Given the description of an element on the screen output the (x, y) to click on. 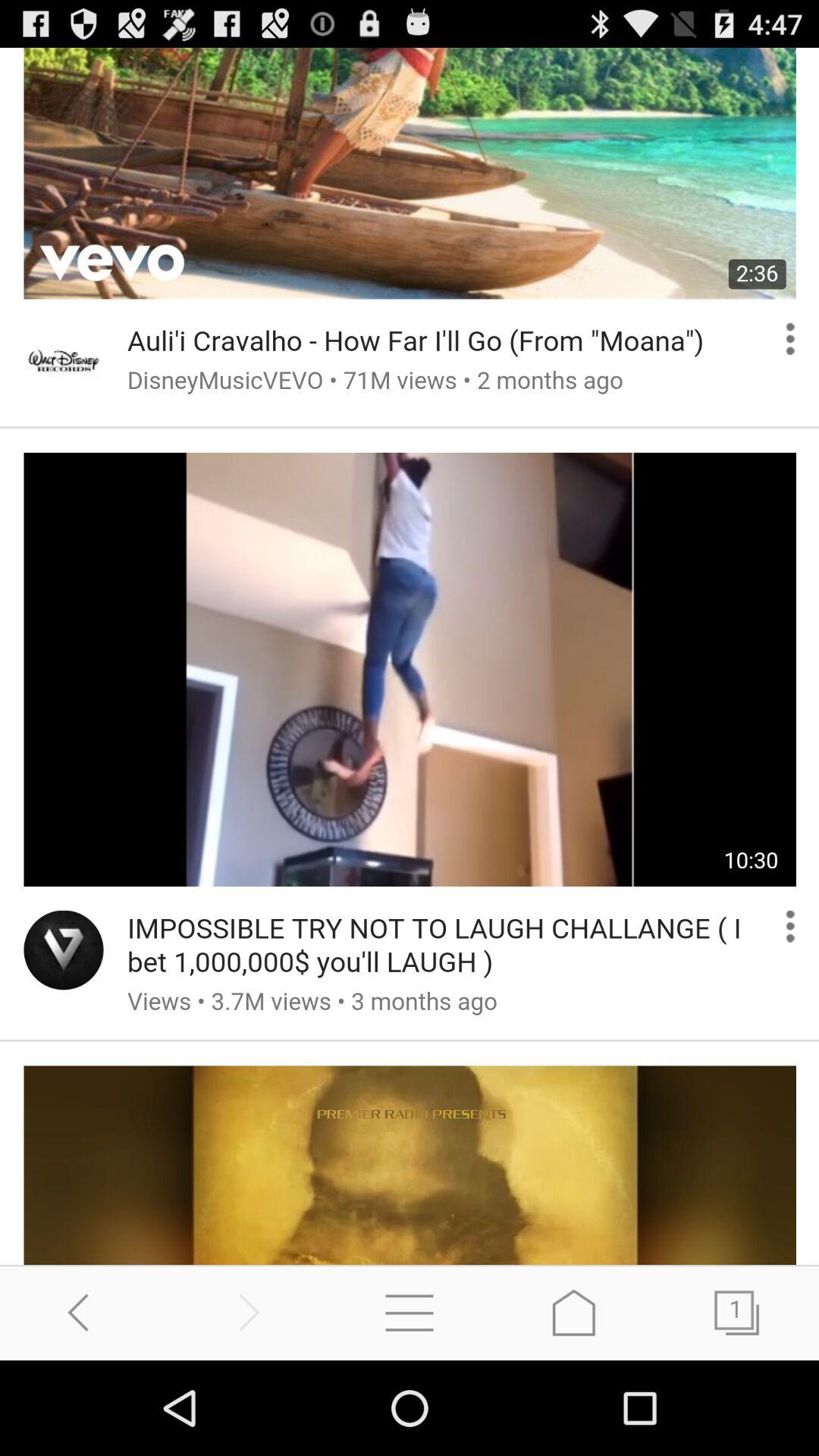
view the tabs (736, 1312)
